Given the description of an element on the screen output the (x, y) to click on. 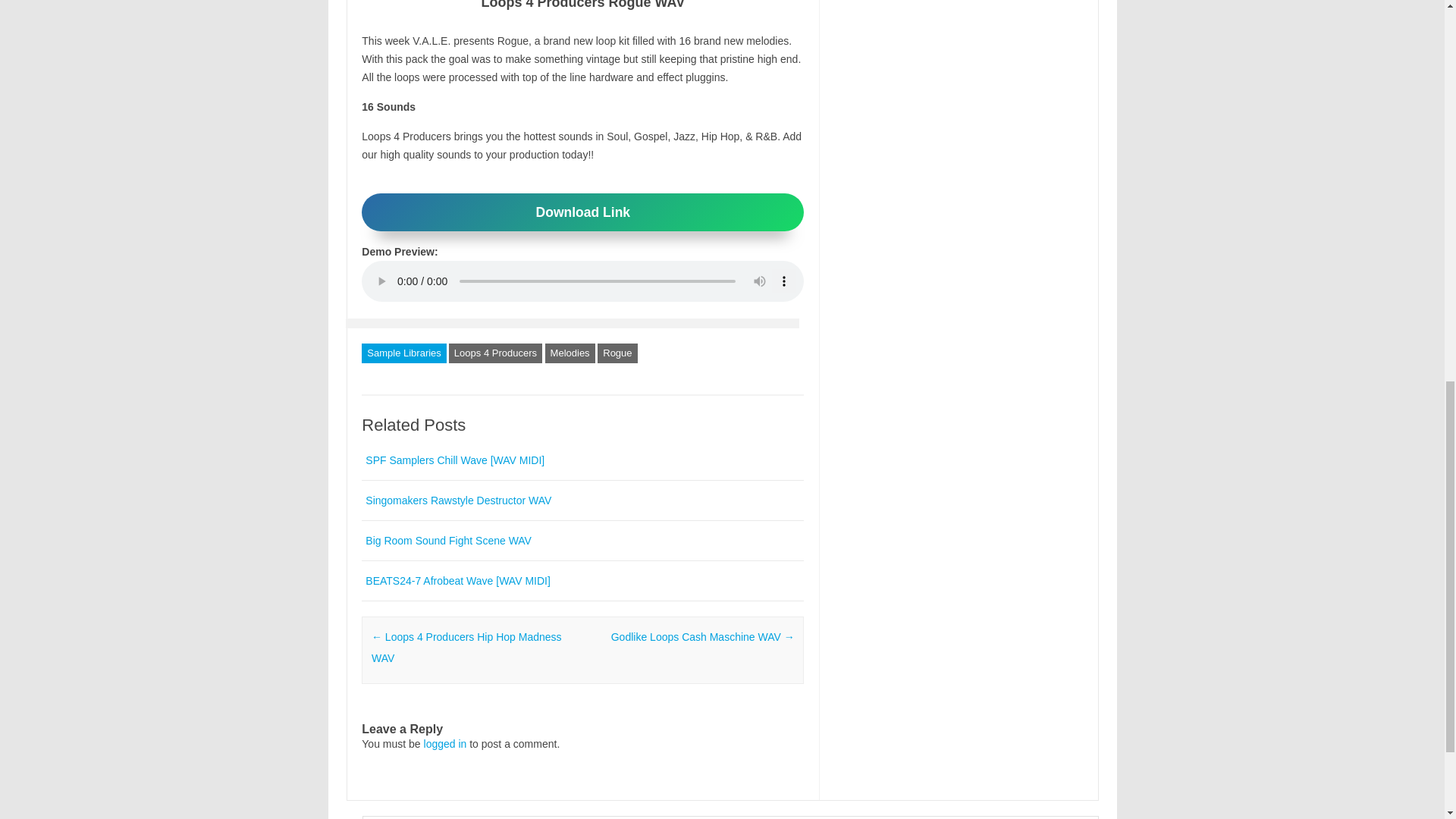
Loops 4 Producers (494, 353)
Singomakers Rawstyle Destructor WAV (458, 500)
Sample Libraries (403, 353)
logged in (445, 743)
Singomakers Rawstyle Destructor WAV (458, 500)
Big Room Sound Fight Scene WAV (448, 540)
Melodies (569, 353)
Big Room Sound Fight Scene WAV (448, 540)
Rogue (616, 353)
